Given the description of an element on the screen output the (x, y) to click on. 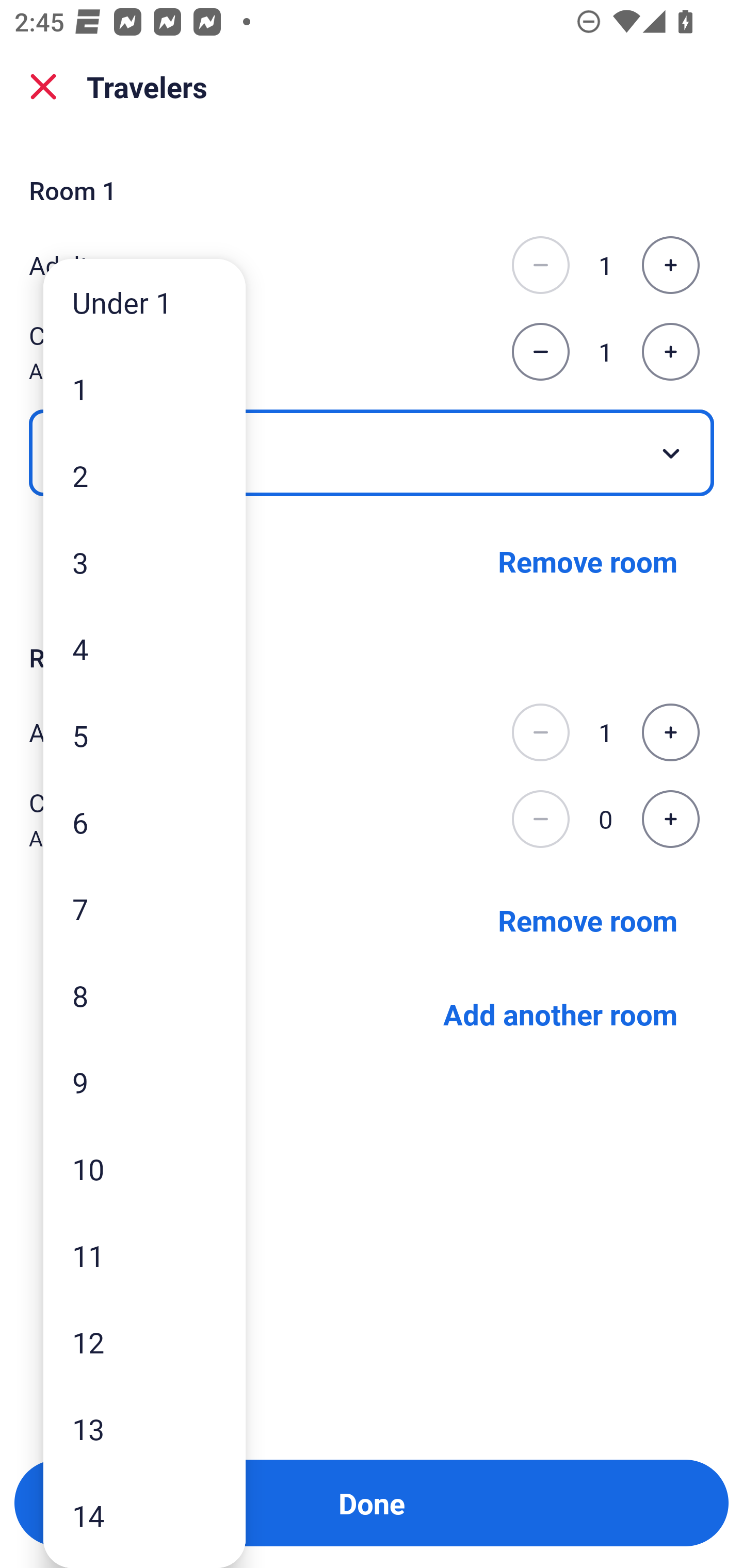
Under 1 (144, 301)
1 (144, 388)
2 (144, 475)
3 (144, 562)
4 (144, 648)
5 (144, 735)
6 (144, 822)
7 (144, 908)
8 (144, 994)
9 (144, 1081)
10 (144, 1168)
11 (144, 1255)
12 (144, 1342)
13 (144, 1429)
14 (144, 1515)
